Given the description of an element on the screen output the (x, y) to click on. 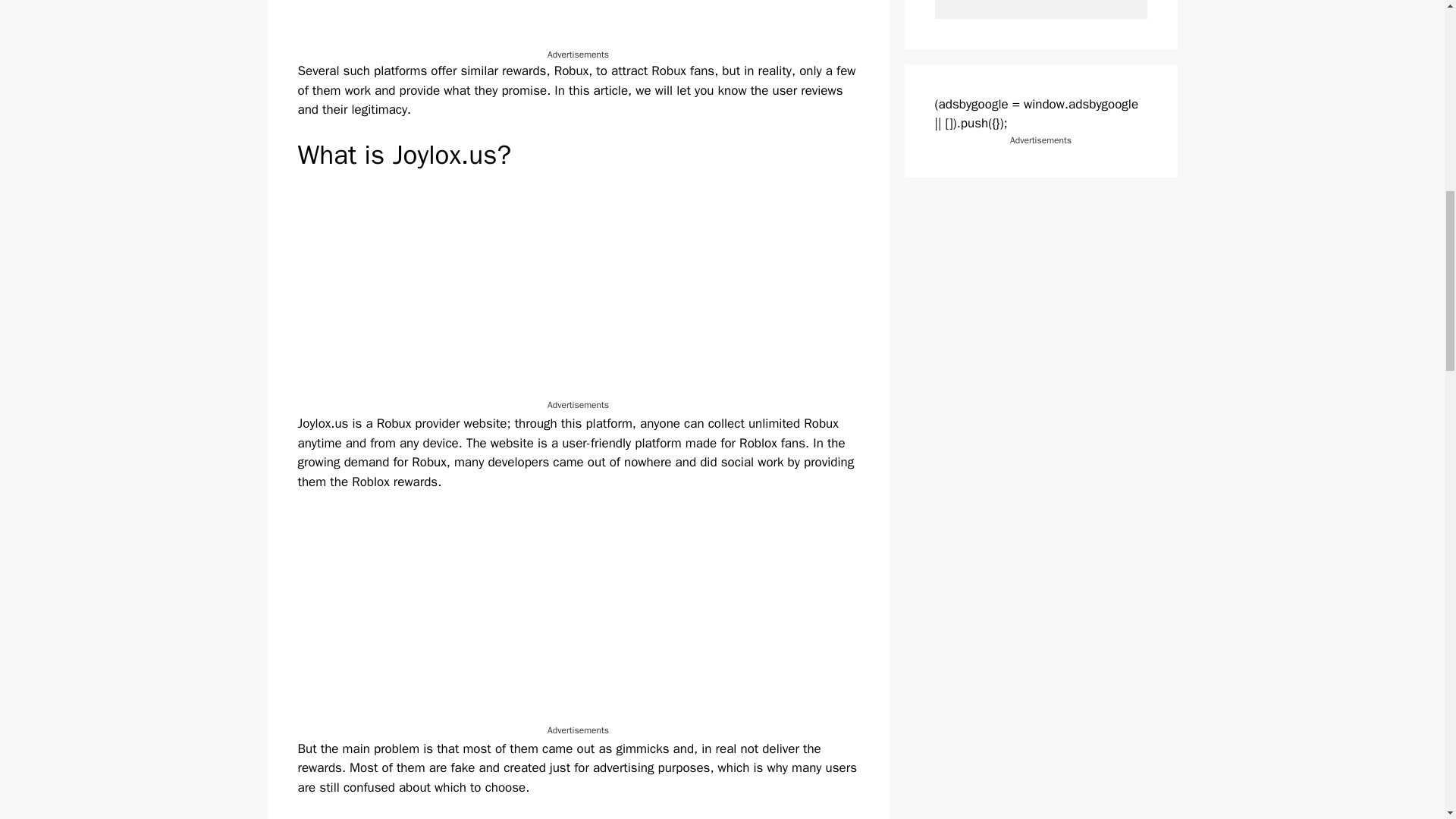
Advertisement (578, 617)
Scroll back to top (1406, 720)
Advertisement (578, 23)
Advertisement (578, 291)
